Given the description of an element on the screen output the (x, y) to click on. 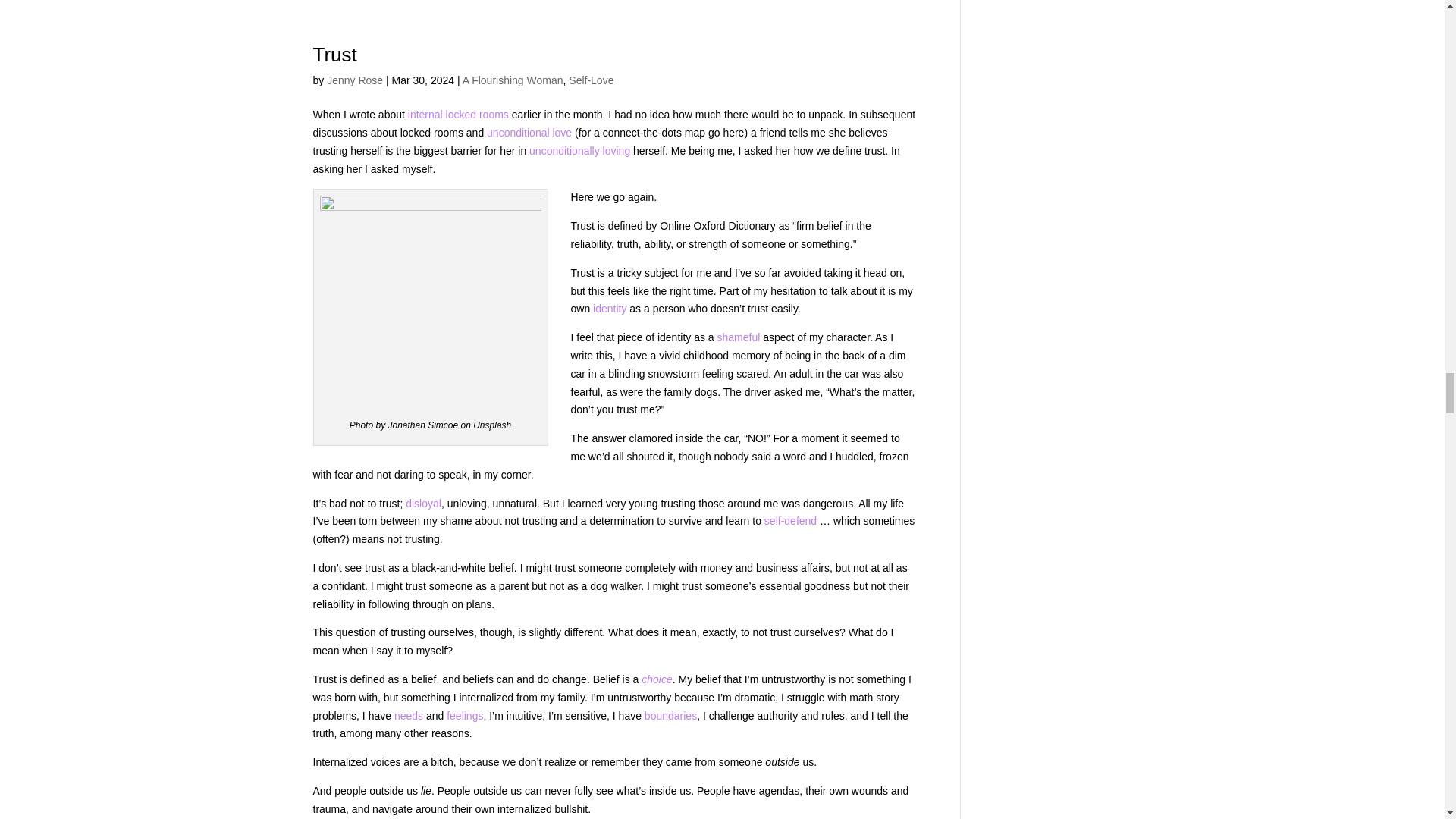
Posts by Jenny Rose (354, 80)
